Given the description of an element on the screen output the (x, y) to click on. 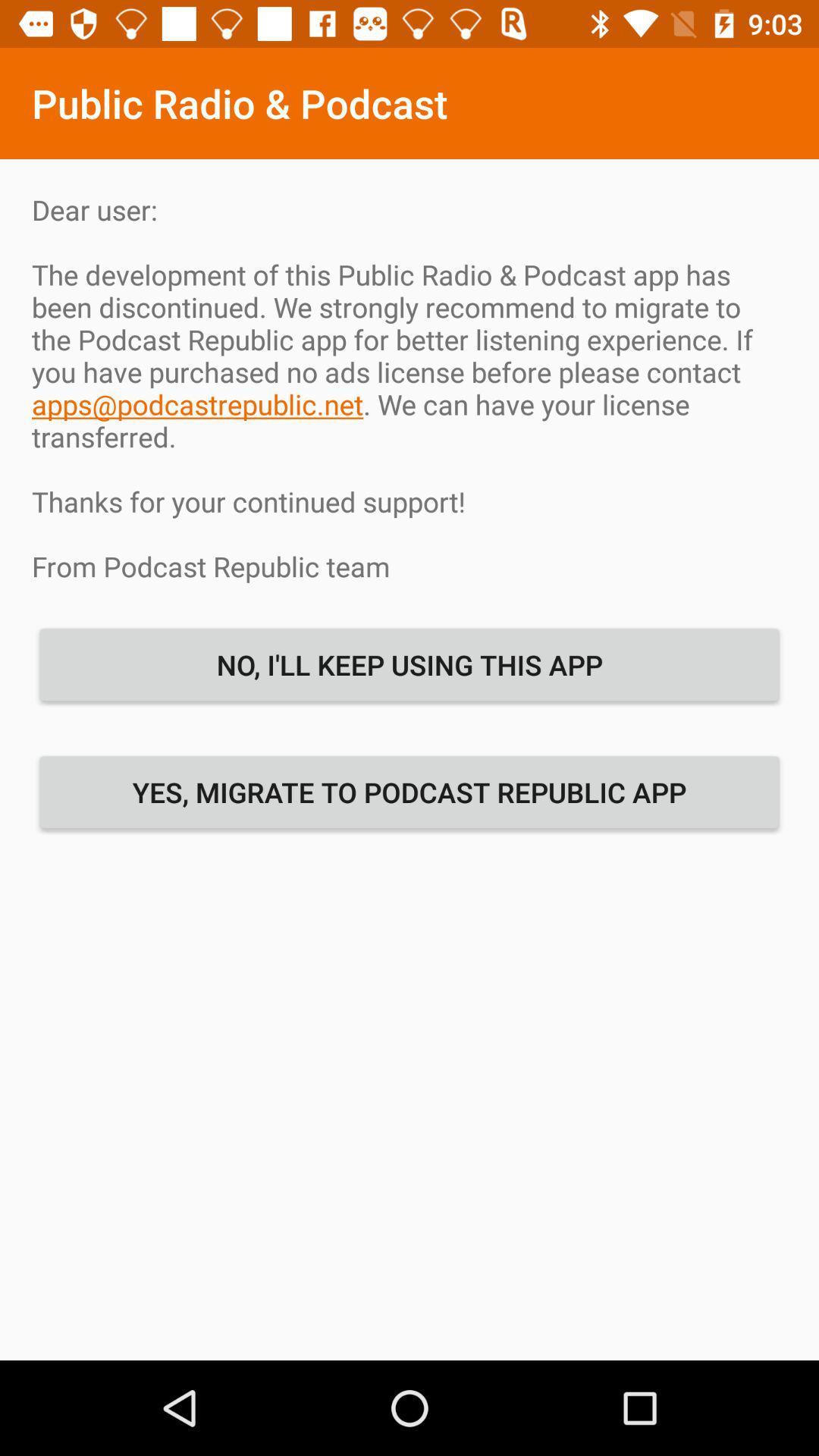
select the icon below the public radio & podcast item (409, 388)
